Given the description of an element on the screen output the (x, y) to click on. 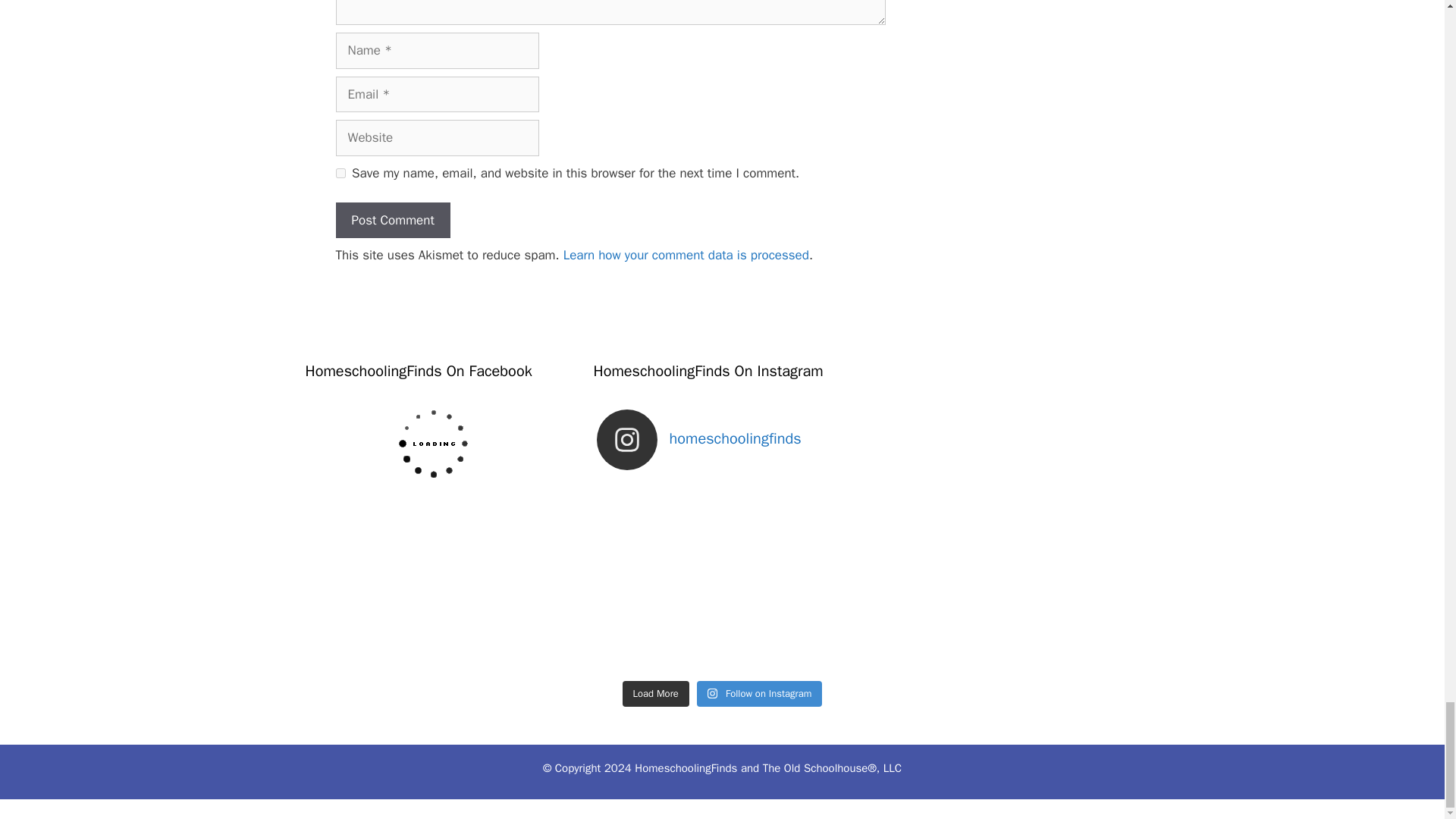
yes (339, 173)
Post Comment (391, 220)
